Given the description of an element on the screen output the (x, y) to click on. 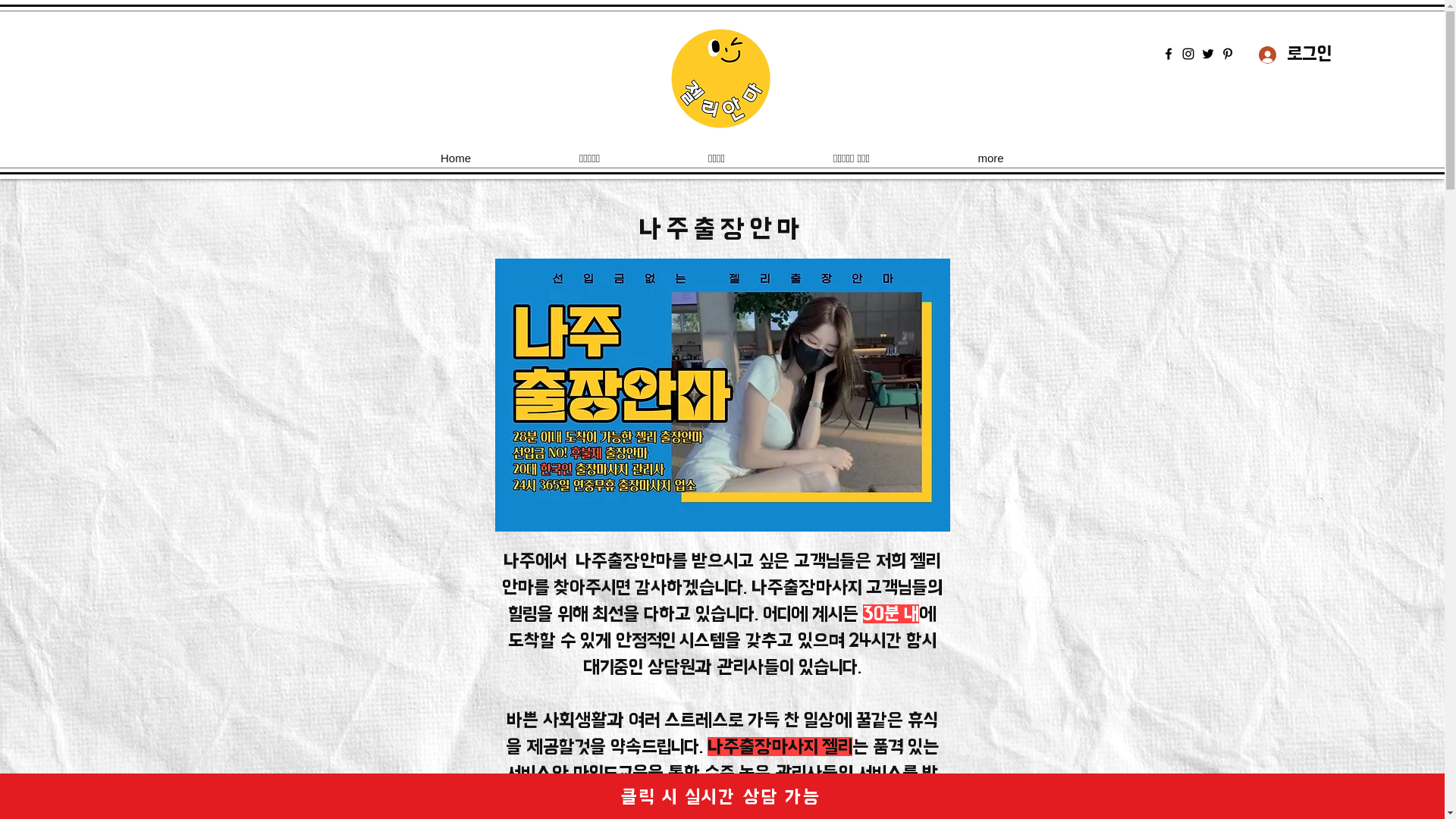
Home Element type: text (455, 158)
